Given the description of an element on the screen output the (x, y) to click on. 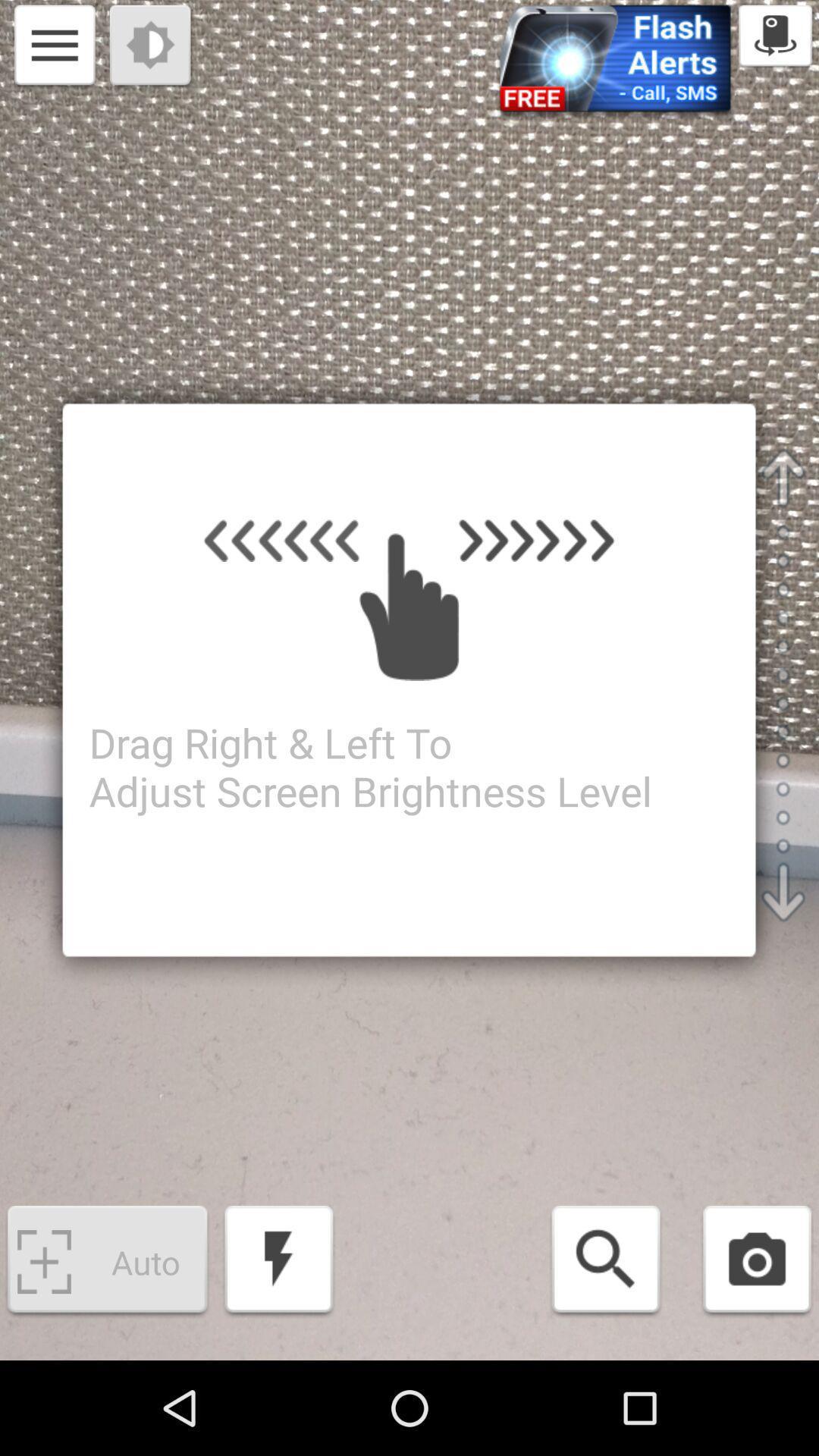
toggle flash on or off (278, 1261)
